Given the description of an element on the screen output the (x, y) to click on. 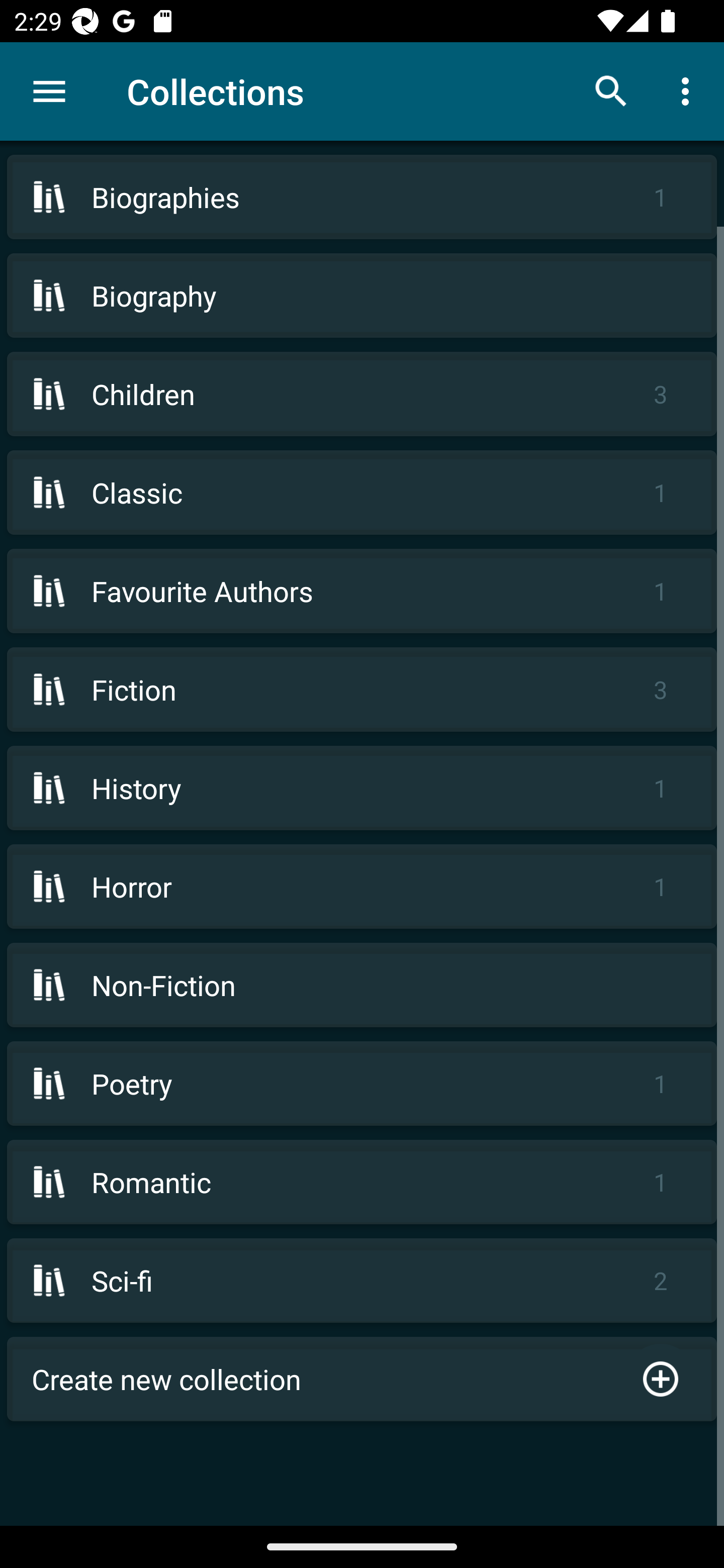
Menu (49, 91)
Search books & documents (611, 90)
More options (688, 90)
Biographies 1 (361, 197)
Biography (361, 295)
Children 3 (361, 393)
Classic 1 (361, 492)
Favourite Authors 1 (361, 590)
Fiction 3 (361, 689)
History 1 (361, 787)
Horror 1 (361, 885)
Non-Fiction (361, 984)
Poetry 1 (361, 1083)
Romantic 1 (361, 1181)
Sci-fi 2 (361, 1280)
Create new collection (361, 1378)
